Given the description of an element on the screen output the (x, y) to click on. 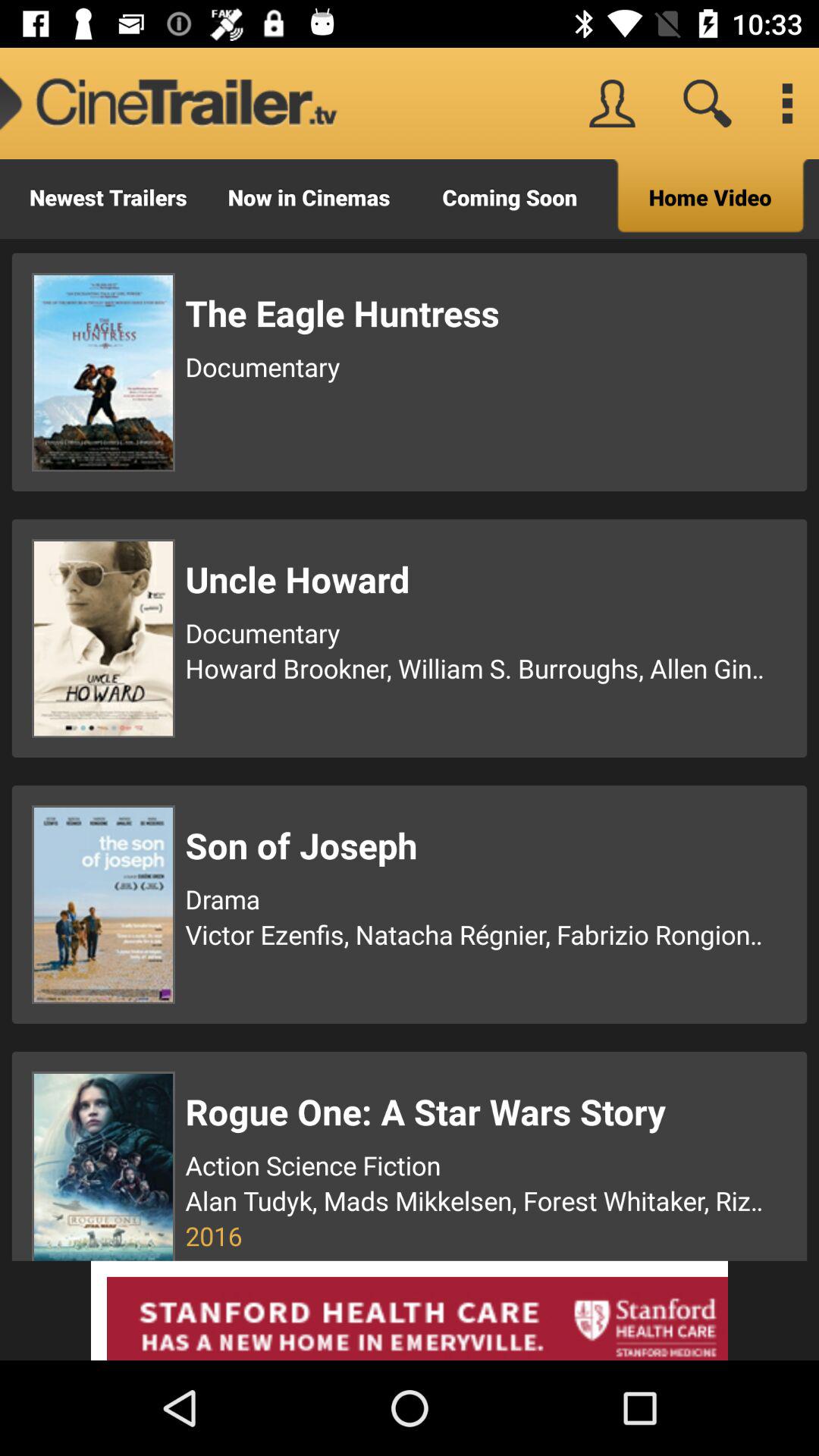
turn off icon next to now in cinemas (107, 198)
